Given the description of an element on the screen output the (x, y) to click on. 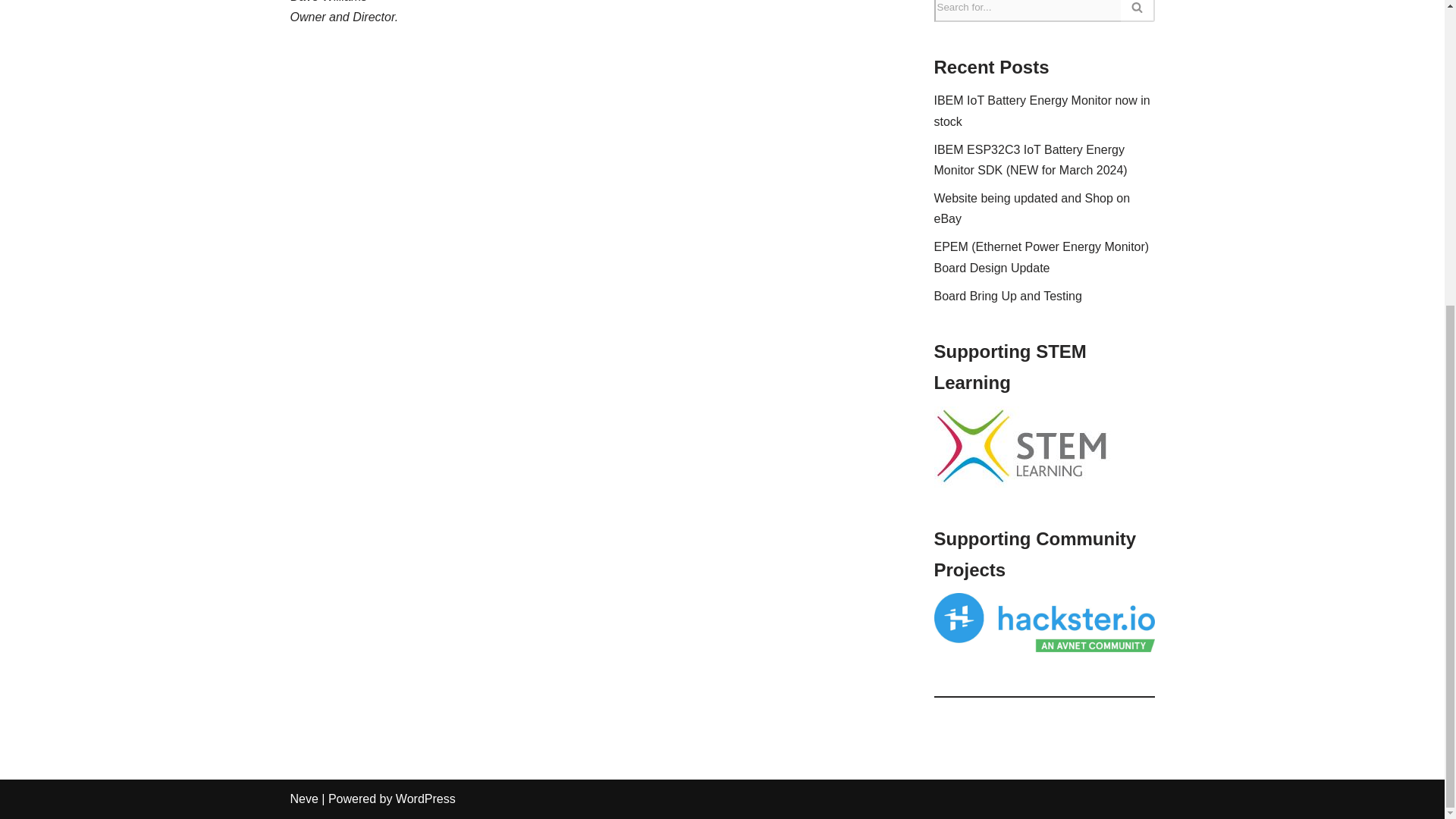
Supporting Community Projects (1044, 621)
Neve (303, 798)
Website being updated and Shop on eBay (1032, 208)
Board Bring Up and Testing (1007, 295)
WordPress (425, 798)
IBEM IoT Battery Energy Monitor now in stock (1042, 110)
